Given the description of an element on the screen output the (x, y) to click on. 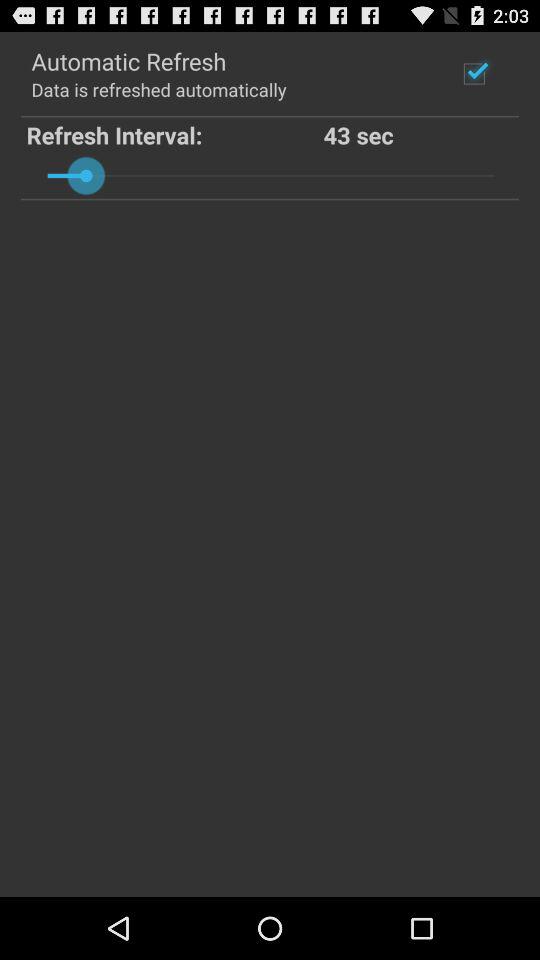
open app below automatic refresh item (158, 88)
